Given the description of an element on the screen output the (x, y) to click on. 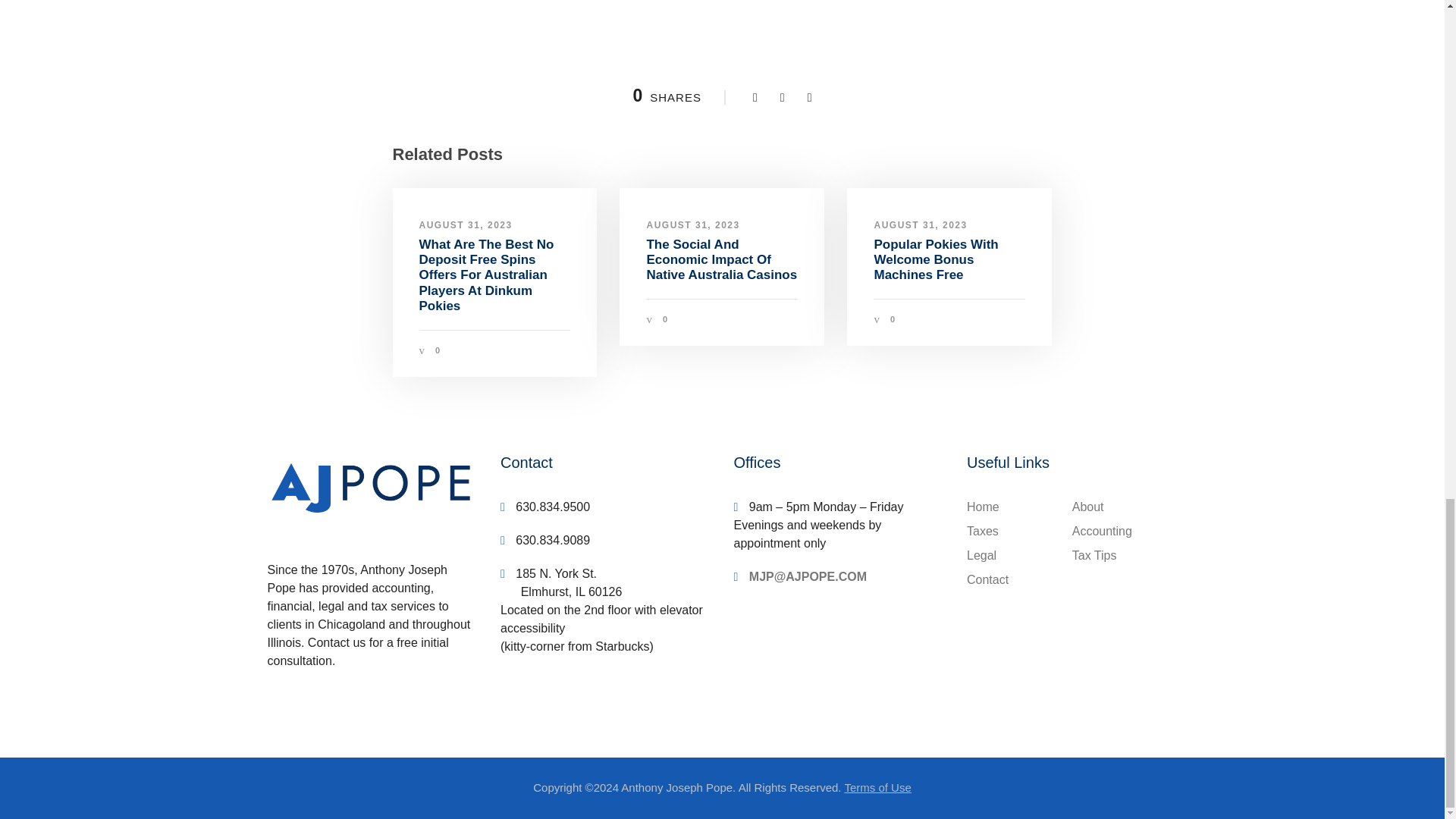
About (1087, 506)
Home (982, 506)
AUGUST 31, 2023 (919, 225)
AUGUST 31, 2023 (692, 225)
Popular Pokies With Welcome Bonus Machines Free (935, 259)
Accounting (1101, 530)
Taxes (982, 530)
The Social And Economic Impact Of Native Australia Casinos (721, 259)
AUGUST 31, 2023 (465, 225)
